Given the description of an element on the screen output the (x, y) to click on. 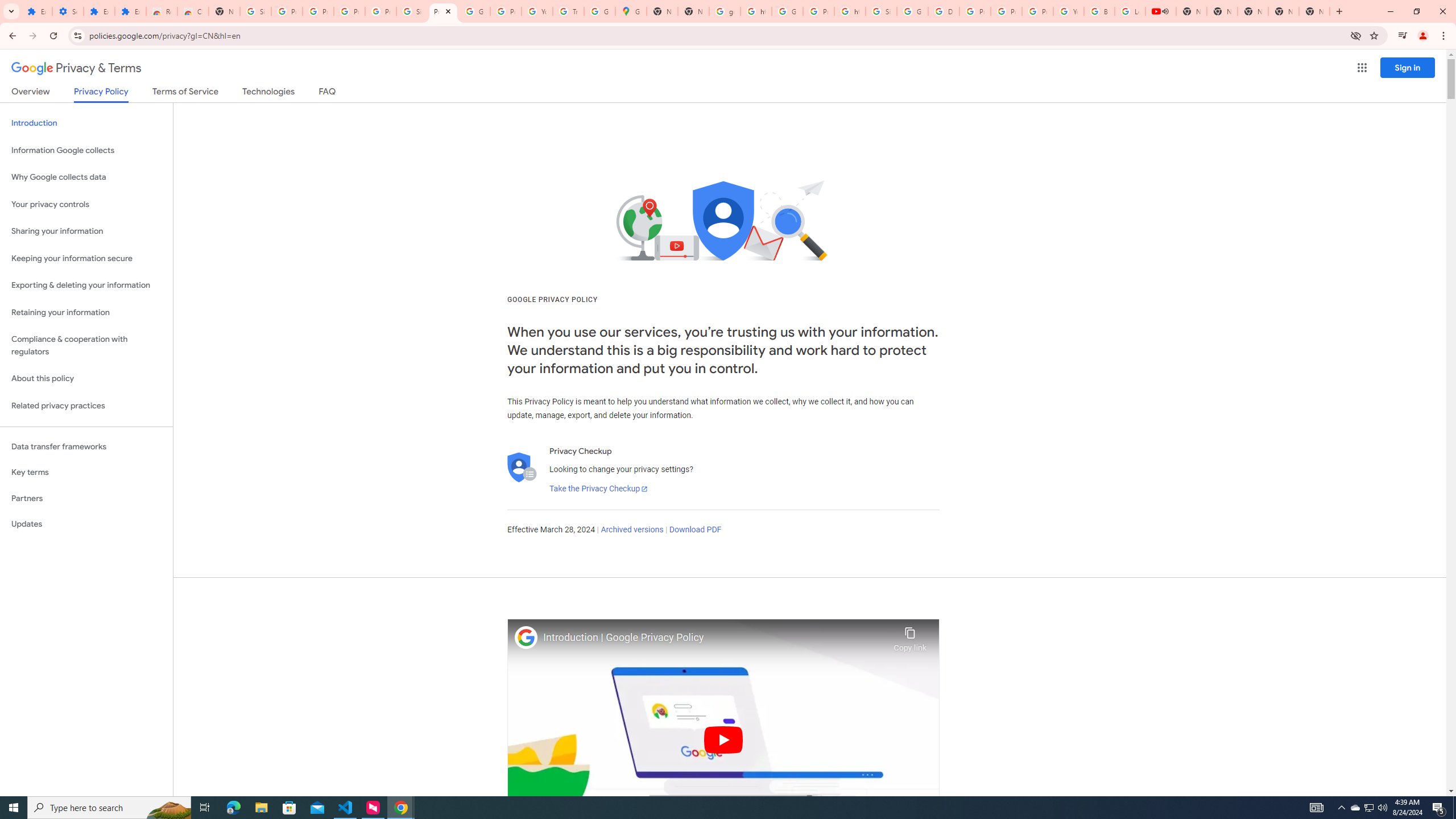
Compliance & cooperation with regulators (86, 345)
Your privacy controls (86, 204)
Exporting & deleting your information (86, 284)
Introduction | Google Privacy Policy (715, 637)
Key terms (86, 472)
YouTube (1068, 11)
